Given the description of an element on the screen output the (x, y) to click on. 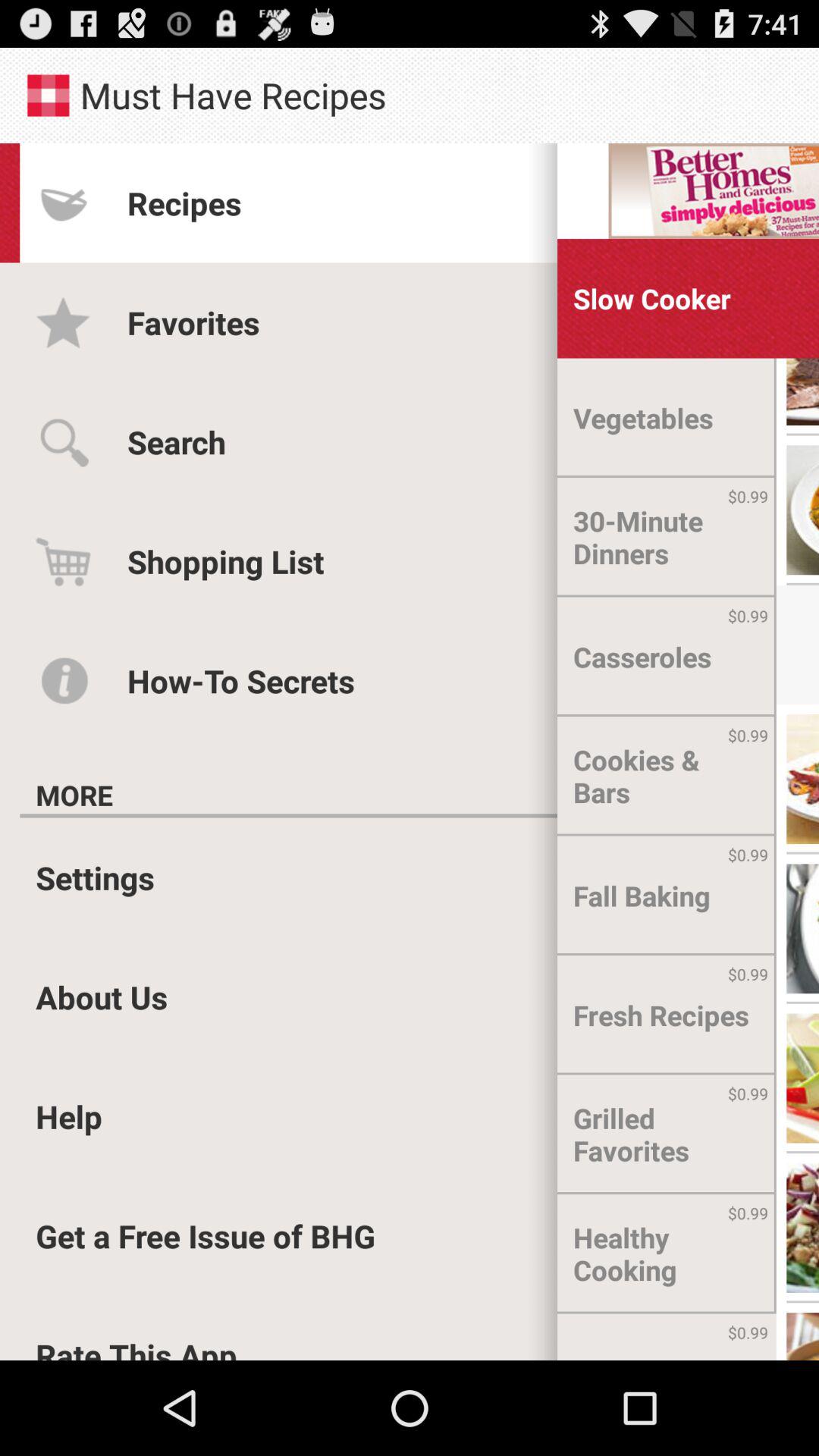
launch the icon next to the about us item (660, 1014)
